Given the description of an element on the screen output the (x, y) to click on. 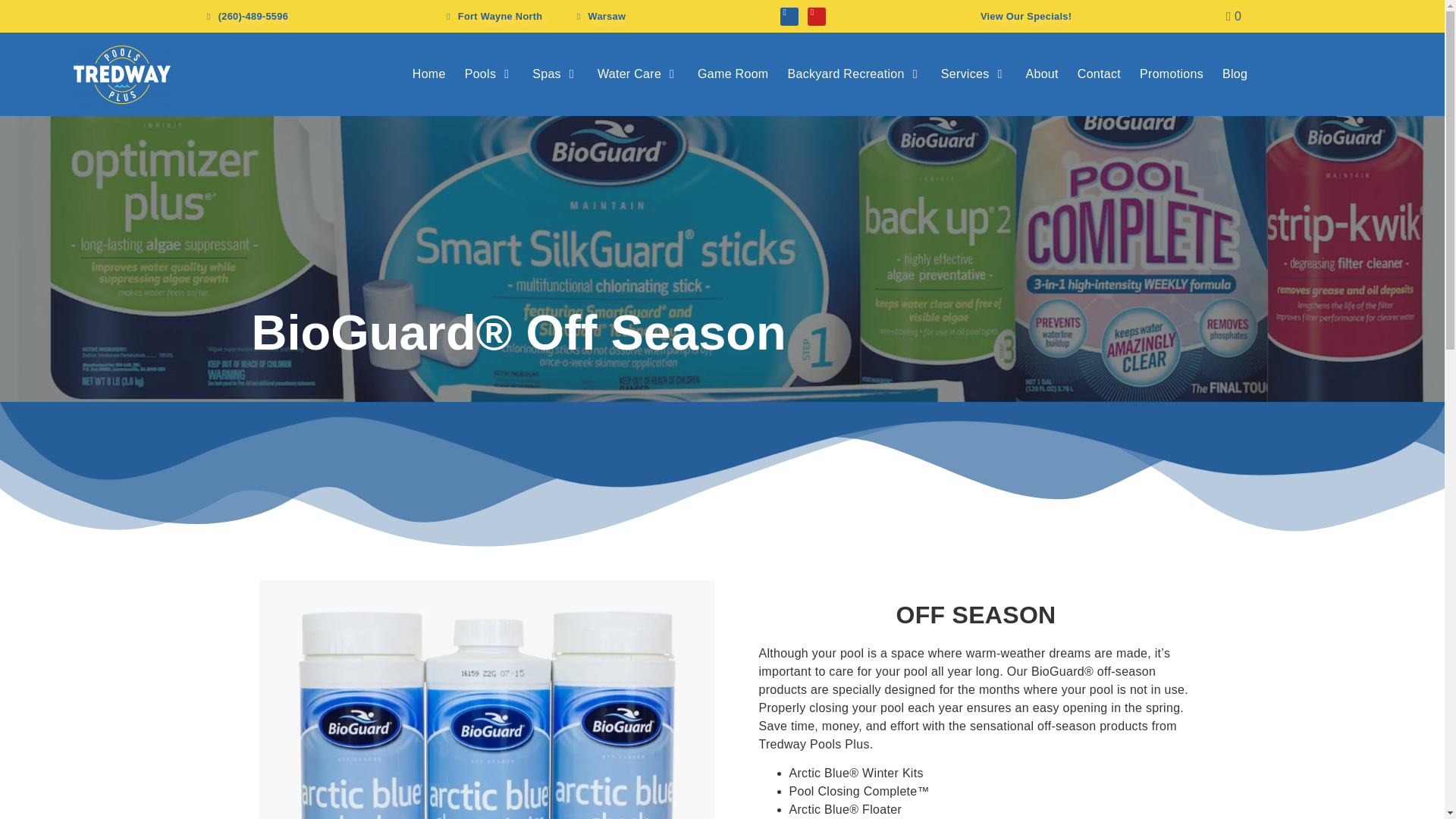
Blog (1235, 74)
Contact (1099, 74)
Fort Wayne North (492, 16)
Backyard Recreation (845, 74)
Water Care (628, 74)
Game Room (732, 74)
Spas (546, 74)
Home (428, 74)
About (1041, 74)
Pools (480, 74)
View Our Specials! (1025, 16)
Services (965, 74)
0 (1233, 16)
View your shopping cart (1233, 16)
Warsaw (599, 16)
